Given the description of an element on the screen output the (x, y) to click on. 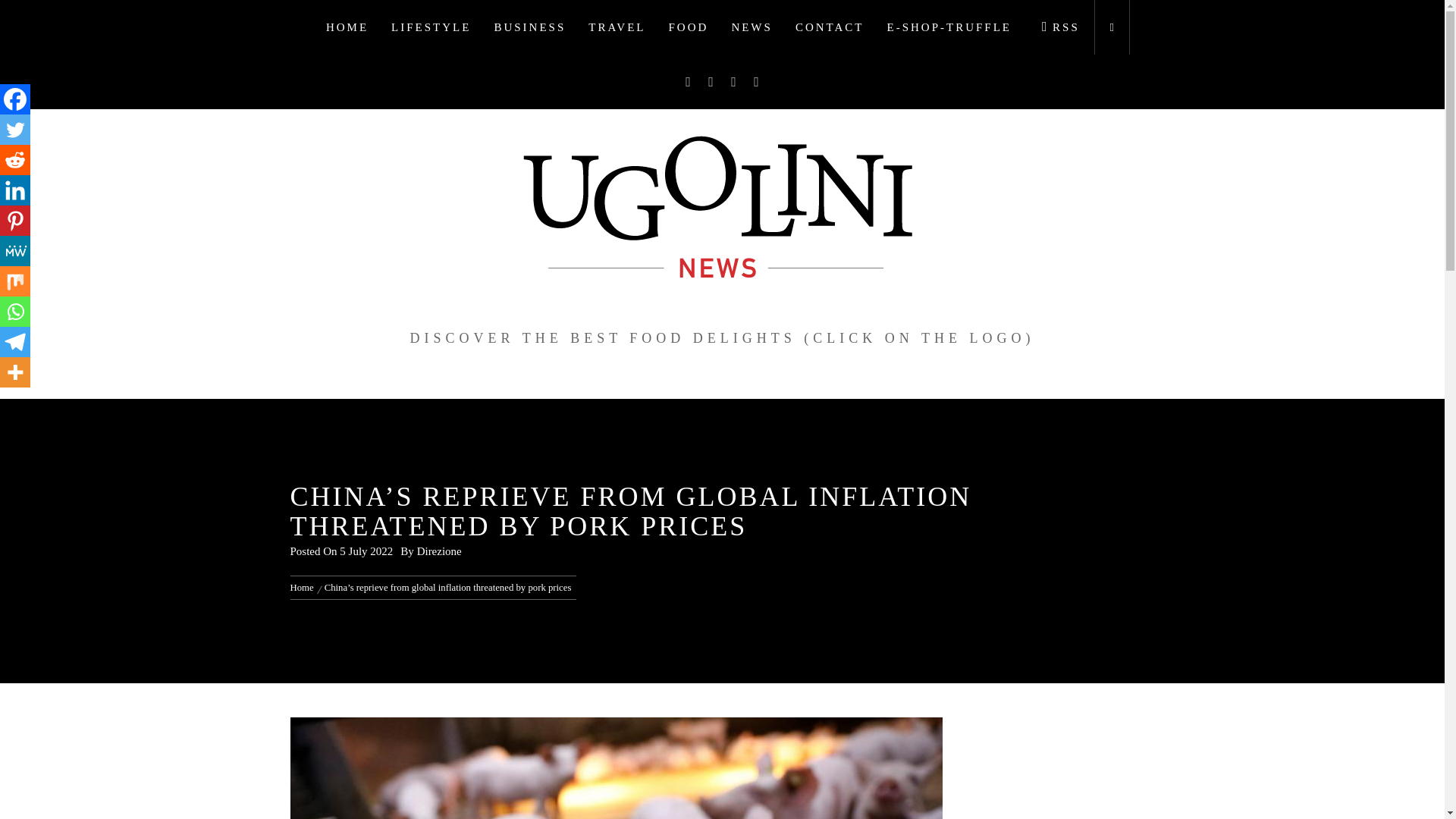
TRAVEL (616, 27)
RSS (1056, 27)
NEWS (751, 27)
Linkedin (15, 190)
Facebook (15, 99)
HOME (347, 27)
LIFESTYLE (430, 27)
Pinterest (15, 220)
E-SHOP-TRUFFLE (949, 27)
Twitter (15, 129)
CONTACT (830, 27)
BUSINESS (528, 27)
Whatsapp (15, 311)
Mix (15, 281)
FOOD (689, 27)
